Given the description of an element on the screen output the (x, y) to click on. 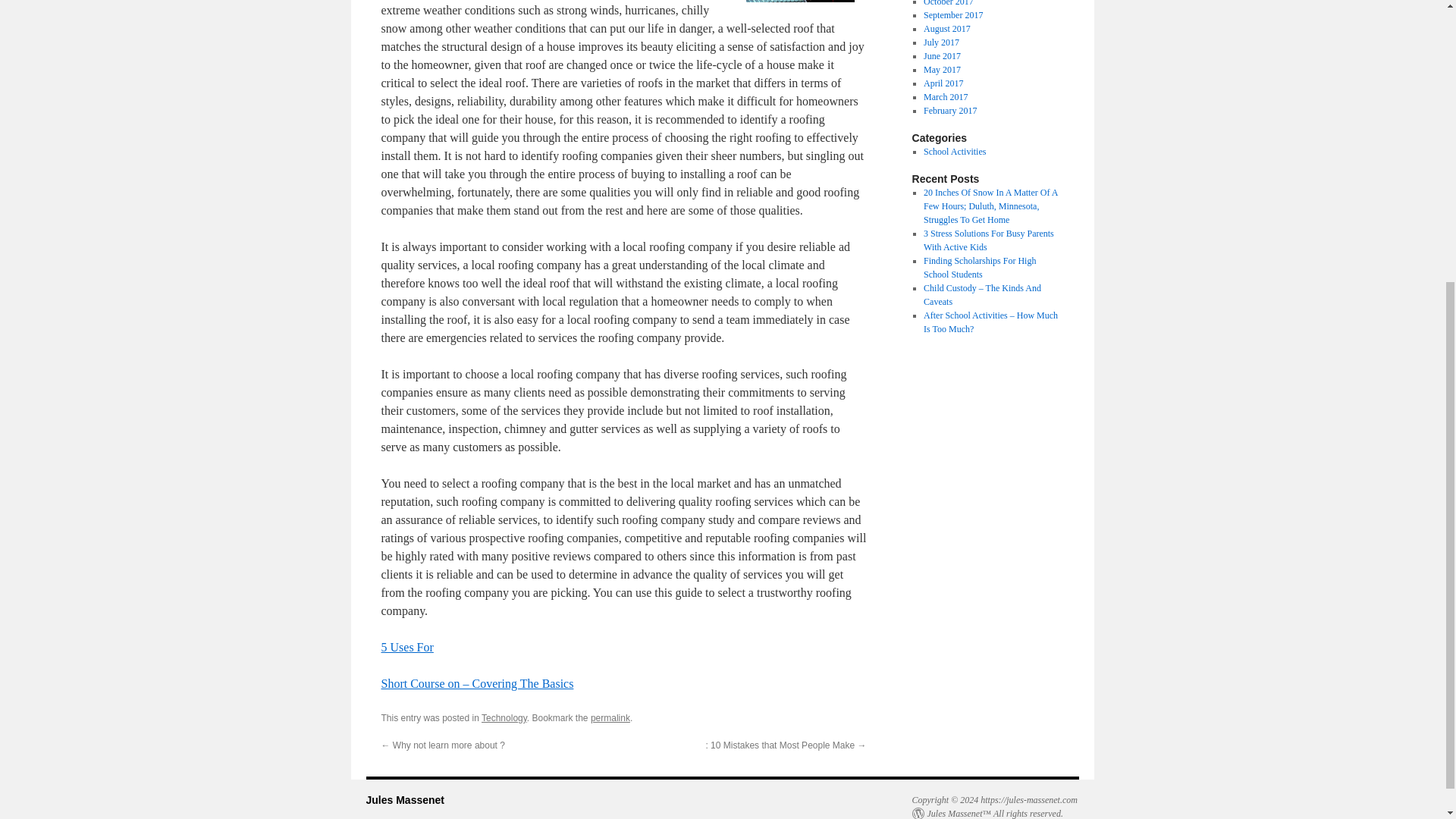
School Activities (954, 151)
permalink (610, 717)
June 2017 (941, 55)
July 2017 (941, 41)
Jules Massenet (404, 799)
September 2017 (952, 14)
March 2017 (945, 96)
May 2017 (941, 69)
Jules Massenet (404, 799)
April 2017 (942, 82)
October 2017 (948, 3)
Finding Scholarships For High School Students (979, 267)
5 Uses For (406, 646)
Technology (504, 717)
